Given the description of an element on the screen output the (x, y) to click on. 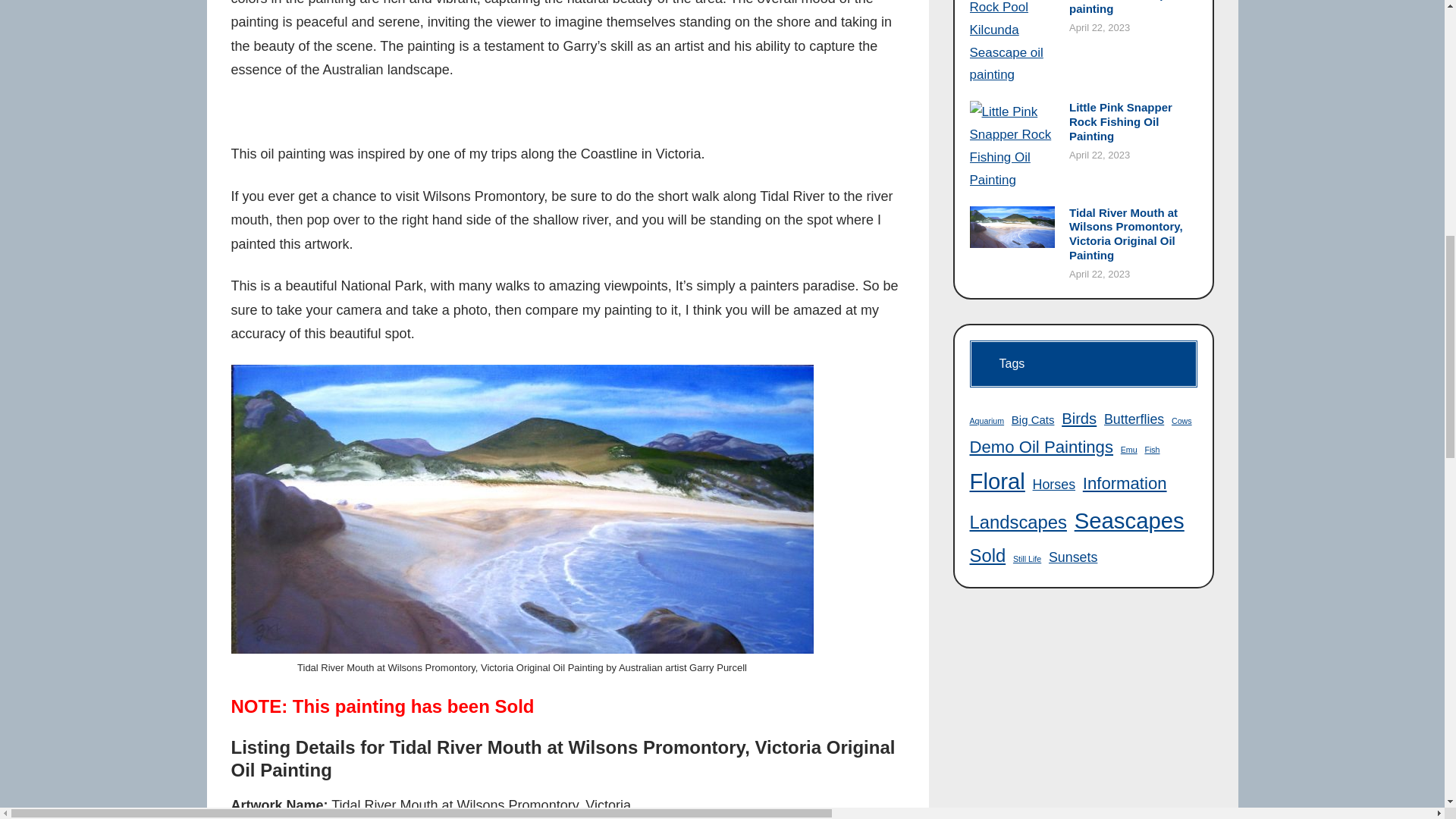
April 22, 2023 (1098, 27)
Little Pink Snapper Rock Fishing Oil Painting (1132, 121)
April 22, 2023 (1098, 274)
April 22, 2023 (1098, 154)
Mussel Rock Pool Kilcunda Seascape oil painting (1132, 7)
